Given the description of an element on the screen output the (x, y) to click on. 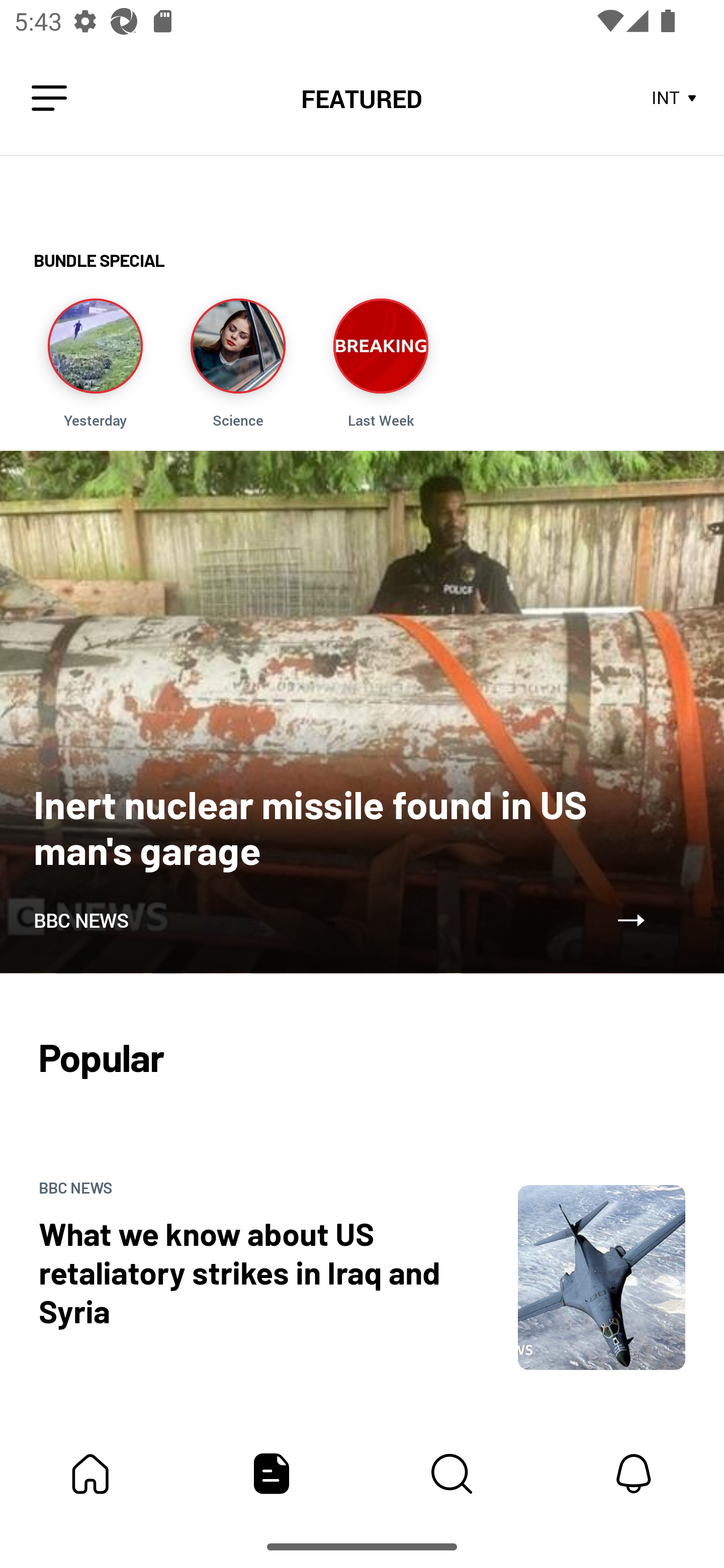
INT Store Area (674, 98)
Leading Icon (49, 98)
Story Image Yesterday (94, 363)
Story Image Science (237, 363)
Story Image Last Week (380, 363)
My Bundle (90, 1473)
Content Store (452, 1473)
Notifications (633, 1473)
